Given the description of an element on the screen output the (x, y) to click on. 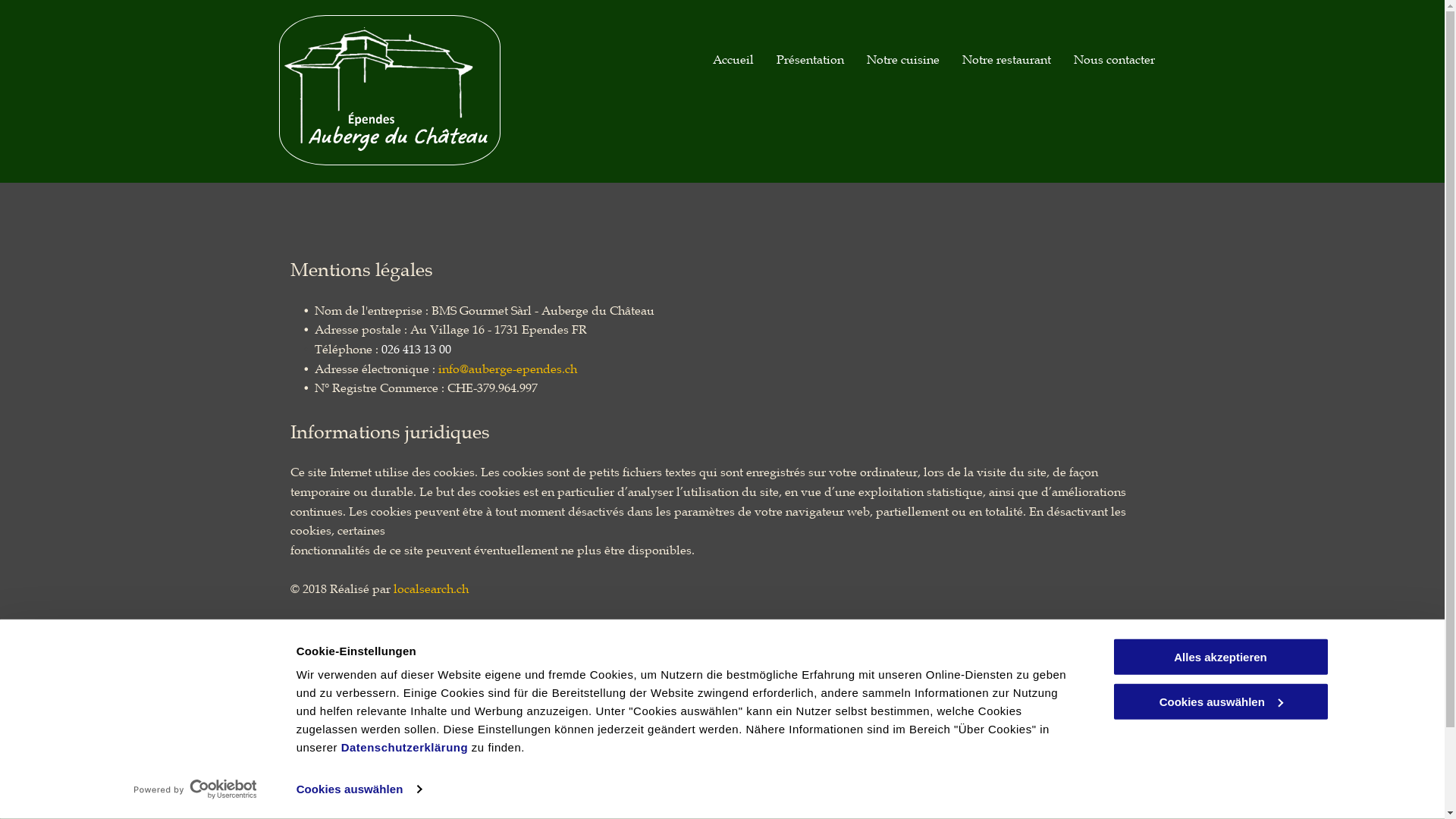
Accueil Element type: text (732, 58)
Notre restaurant Element type: text (1005, 58)
Alles akzeptieren Element type: text (1219, 656)
Nous contacter Element type: text (1113, 58)
localsearch.ch Element type: text (429, 588)
local.ch Element type: text (426, 626)
search.ch Element type: text (488, 626)
info@auberge-ependes.ch Element type: text (507, 368)
Notre cuisine Element type: text (902, 58)
026 413 Element type: text (413, 780)
